Given the description of an element on the screen output the (x, y) to click on. 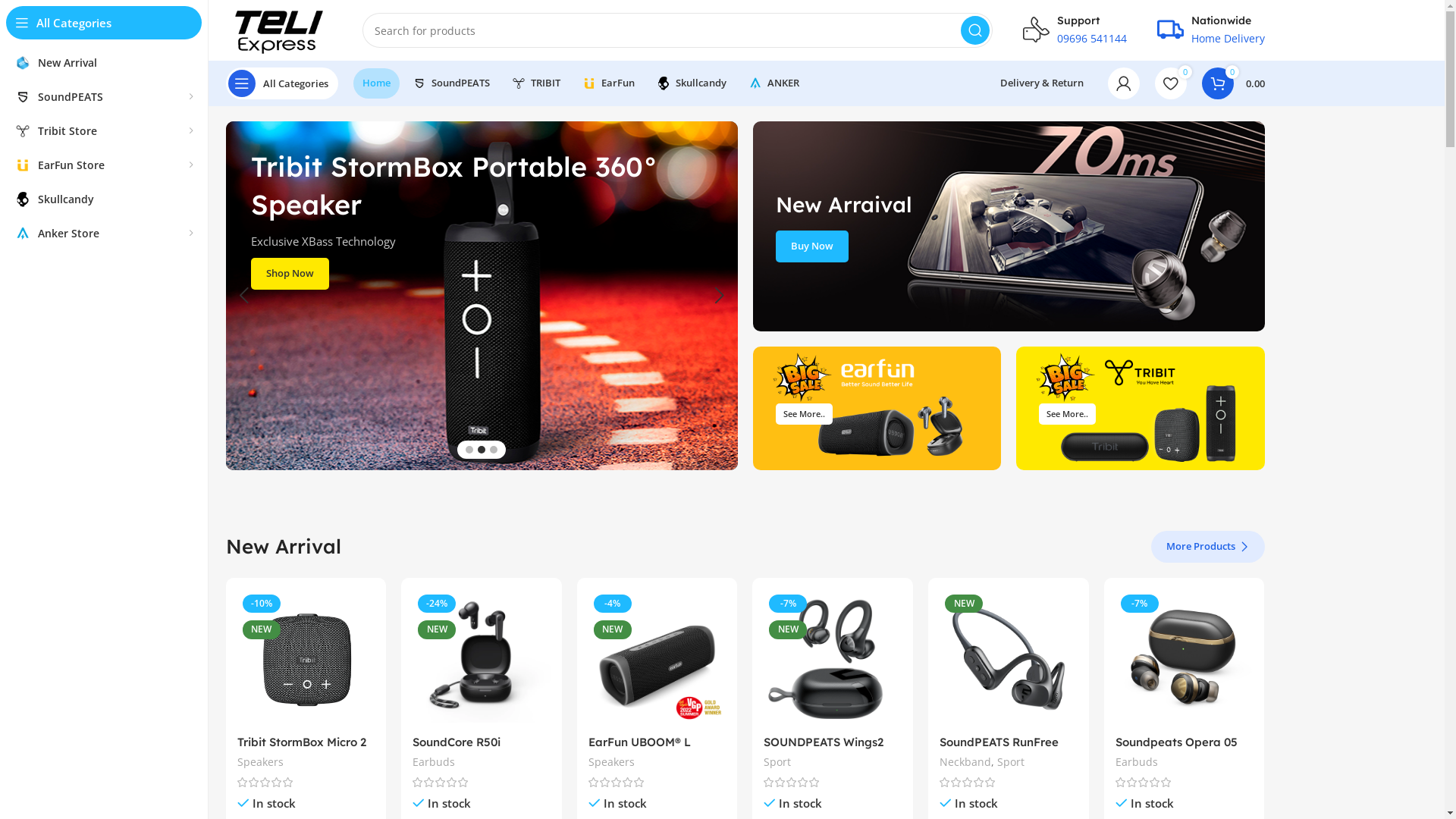
Sport Element type: text (1010, 761)
Shop Now Element type: text (290, 273)
Delivery & Return Element type: text (1041, 83)
Home Element type: text (376, 83)
Soundpeats Opera 05 Element type: text (1176, 741)
0 Element type: text (1169, 83)
Tribit Store Element type: text (103, 130)
-4%
NEW Element type: text (657, 658)
EarFun Store Element type: text (103, 164)
-10%
NEW Element type: text (305, 658)
SOUNDPEATS Wings2 Sports Wireless Earbuds Element type: text (830, 749)
TRIBIT Element type: text (535, 83)
My account Element type: hover (1122, 83)
Skullcandy Element type: text (103, 199)
Anker Store Element type: text (103, 233)
Buy Now Element type: text (811, 246)
-7%
NEW Element type: text (832, 658)
NEW Element type: text (1008, 658)
-7% Element type: text (1184, 658)
ANKER Element type: text (772, 83)
Tribit StormBox Micro 2 Portable Speaker Element type: text (300, 749)
See More.. Element type: text (876, 408)
New Arrival Element type: text (103, 62)
Speakers Element type: text (259, 761)
All Categories Element type: text (281, 83)
See More.. Element type: text (1066, 413)
chevron-right-primary Element type: hover (1244, 546)
SoundCore R50i Element type: text (456, 741)
Search for products Element type: hover (677, 29)
Earbuds Element type: text (433, 761)
EarFun Element type: text (608, 83)
SoundPEATS Element type: text (103, 96)
Search Element type: text (974, 29)
Earbuds Element type: text (1136, 761)
More Products Element type: text (1207, 546)
Sport Element type: text (776, 761)
SoundPEATS Element type: text (450, 83)
Neckband Element type: text (965, 761)
Speakers Element type: text (611, 761)
Skullcandy Element type: text (691, 83)
See More.. Element type: text (803, 413)
-24%
NEW Element type: text (481, 658)
